Given the description of an element on the screen output the (x, y) to click on. 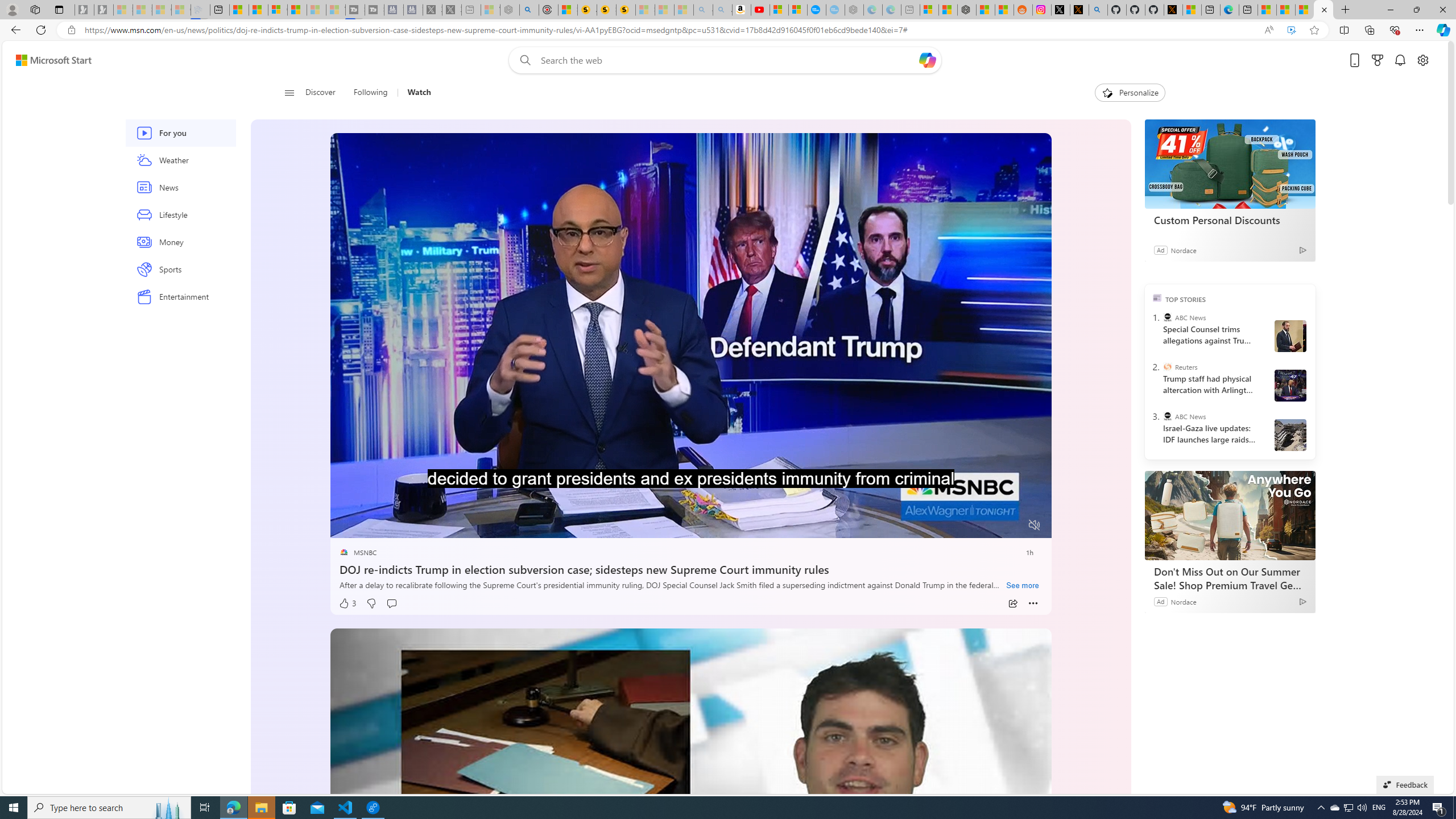
Tab actions menu (58, 9)
Following (370, 92)
Microsoft Start - Sleeping (315, 9)
Restore (1416, 9)
Share (1012, 603)
Browser essentials (1394, 29)
placeholder MSNBC (358, 552)
To get missing image descriptions, open the context menu. (1106, 92)
Close tab (1324, 9)
See more (1022, 585)
poe - Search (529, 9)
